Given the description of an element on the screen output the (x, y) to click on. 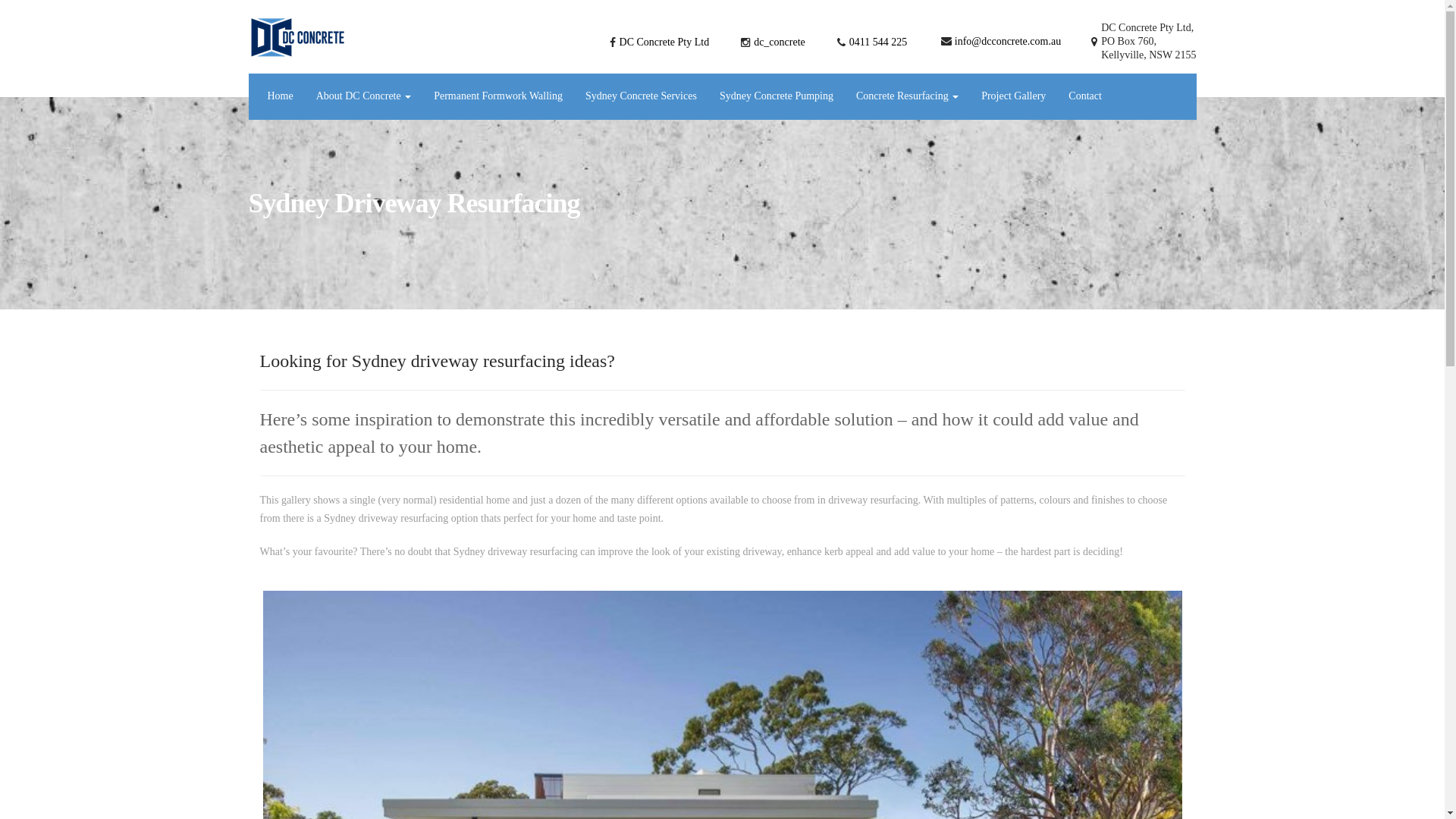
Sydney Concrete Services Element type: text (641, 96)
Permanent Formwork Walling Element type: text (498, 96)
info@dcconcrete.com.au Element type: text (1007, 41)
Home Element type: text (276, 96)
Project Gallery Element type: text (1013, 96)
Contact Element type: text (1085, 96)
0411 544 225 Element type: text (877, 41)
DC Concrete Pty Ltd Element type: text (664, 41)
Concrete Resurfacing Element type: text (906, 96)
dc_concrete Element type: text (779, 41)
Sydney Concrete Pumping Element type: text (776, 96)
About DC Concrete Element type: text (363, 96)
